Given the description of an element on the screen output the (x, y) to click on. 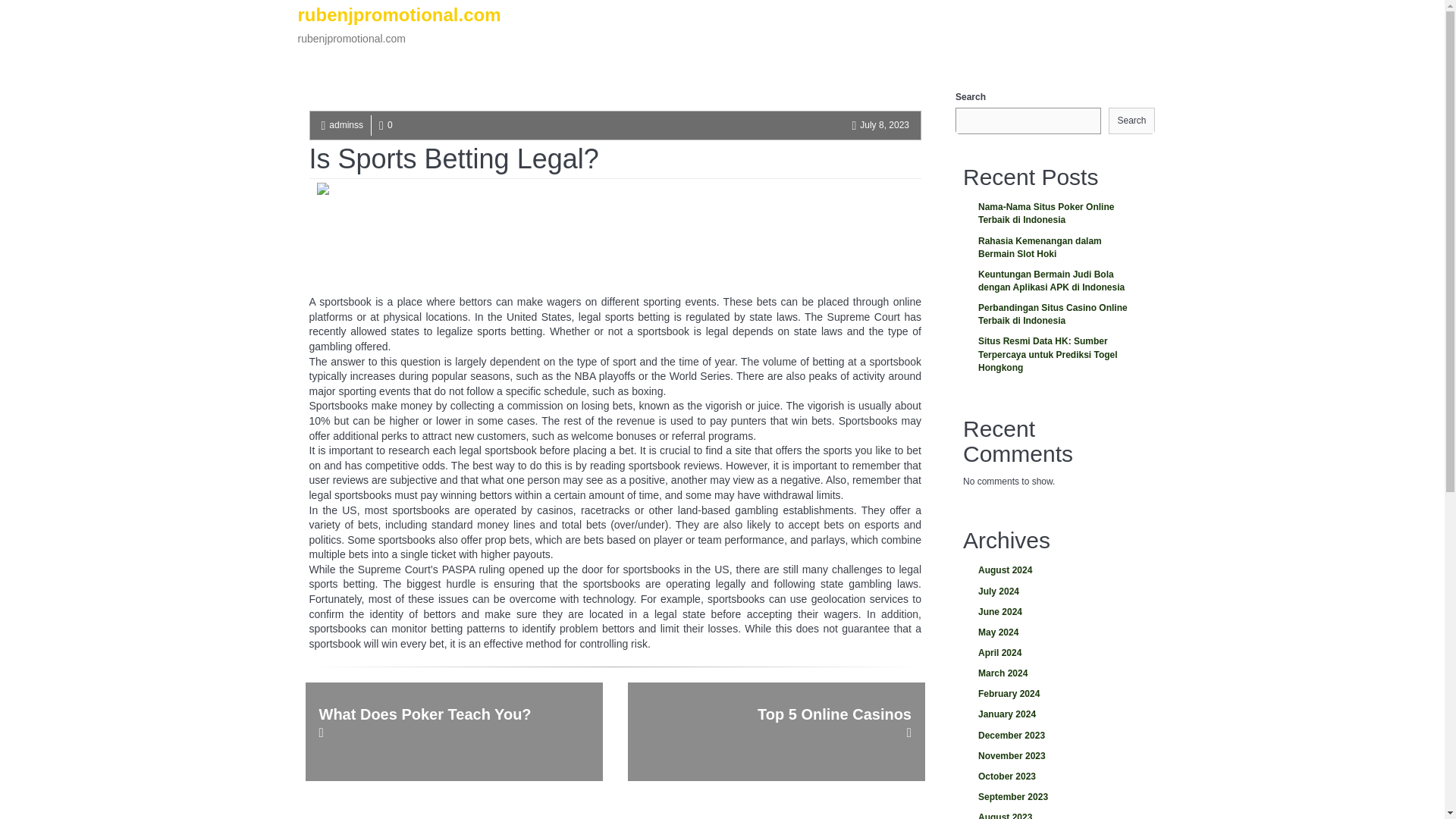
April 2024 (1054, 652)
Nama-Nama Situs Poker Online Terbaik di Indonesia (1054, 213)
adminss (345, 124)
June 2024 (1054, 611)
October 2023 (1054, 776)
Perbandingan Situs Casino Online Terbaik di Indonesia (1054, 314)
September 2023 (1054, 797)
July 2024 (1054, 591)
December 2023 (1054, 735)
March 2024 (1054, 673)
